Given the description of an element on the screen output the (x, y) to click on. 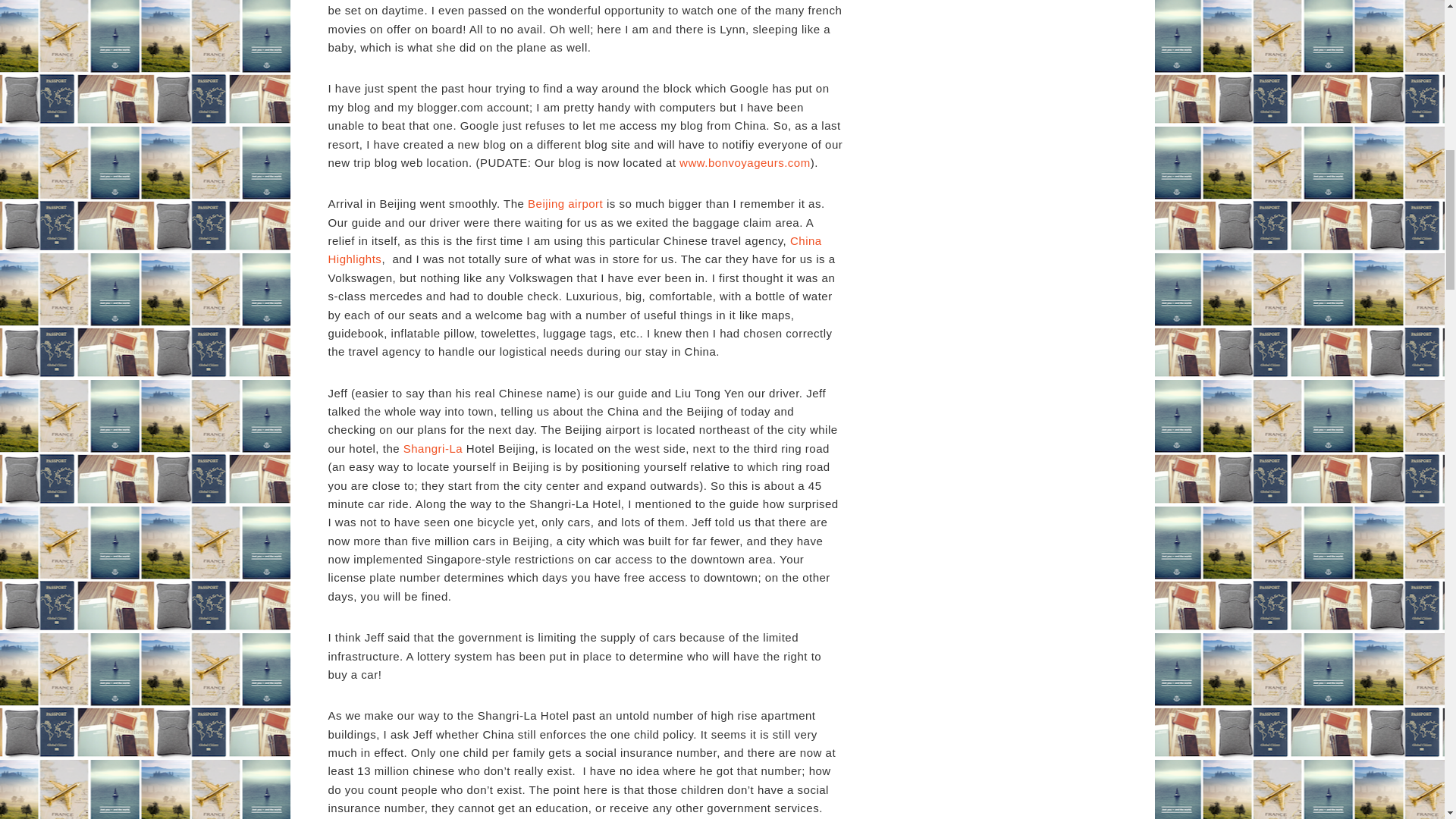
Beijing Airport (564, 203)
Shangri-La Hotel Beijing (433, 448)
China Highlights (574, 249)
BonVoyageurs (744, 162)
